Given the description of an element on the screen output the (x, y) to click on. 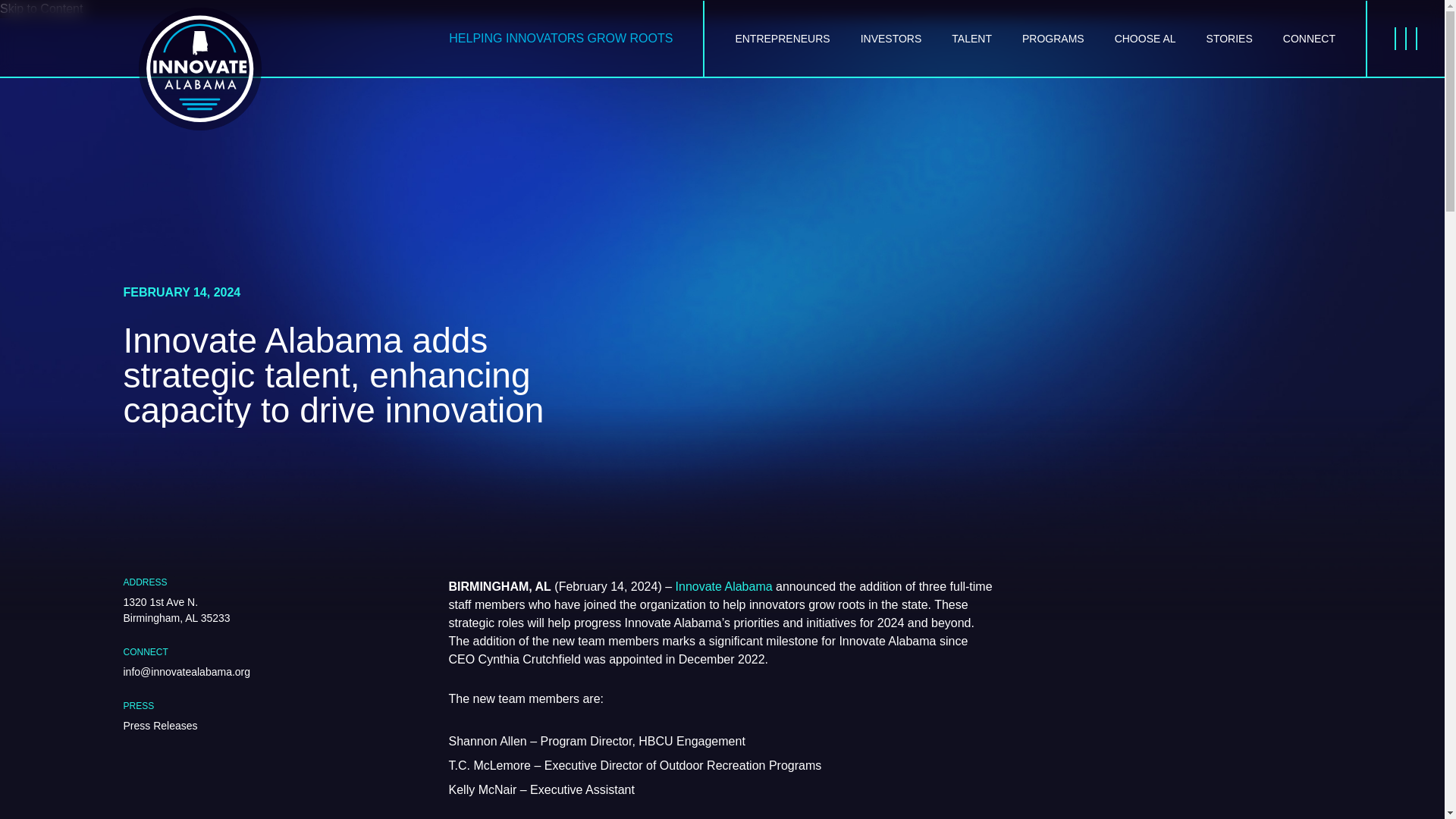
CHOOSE AL (1145, 38)
PROGRAMS (1053, 38)
Press Releases (159, 725)
on (7, 6)
Skip to Content (41, 8)
INVESTORS (890, 38)
TALENT (971, 38)
INNOVATE ALABAMA (199, 68)
ENTREPRENEURS (782, 38)
CONNECT (1308, 38)
STORIES (1229, 38)
Innovate Alabama (724, 585)
